Given the description of an element on the screen output the (x, y) to click on. 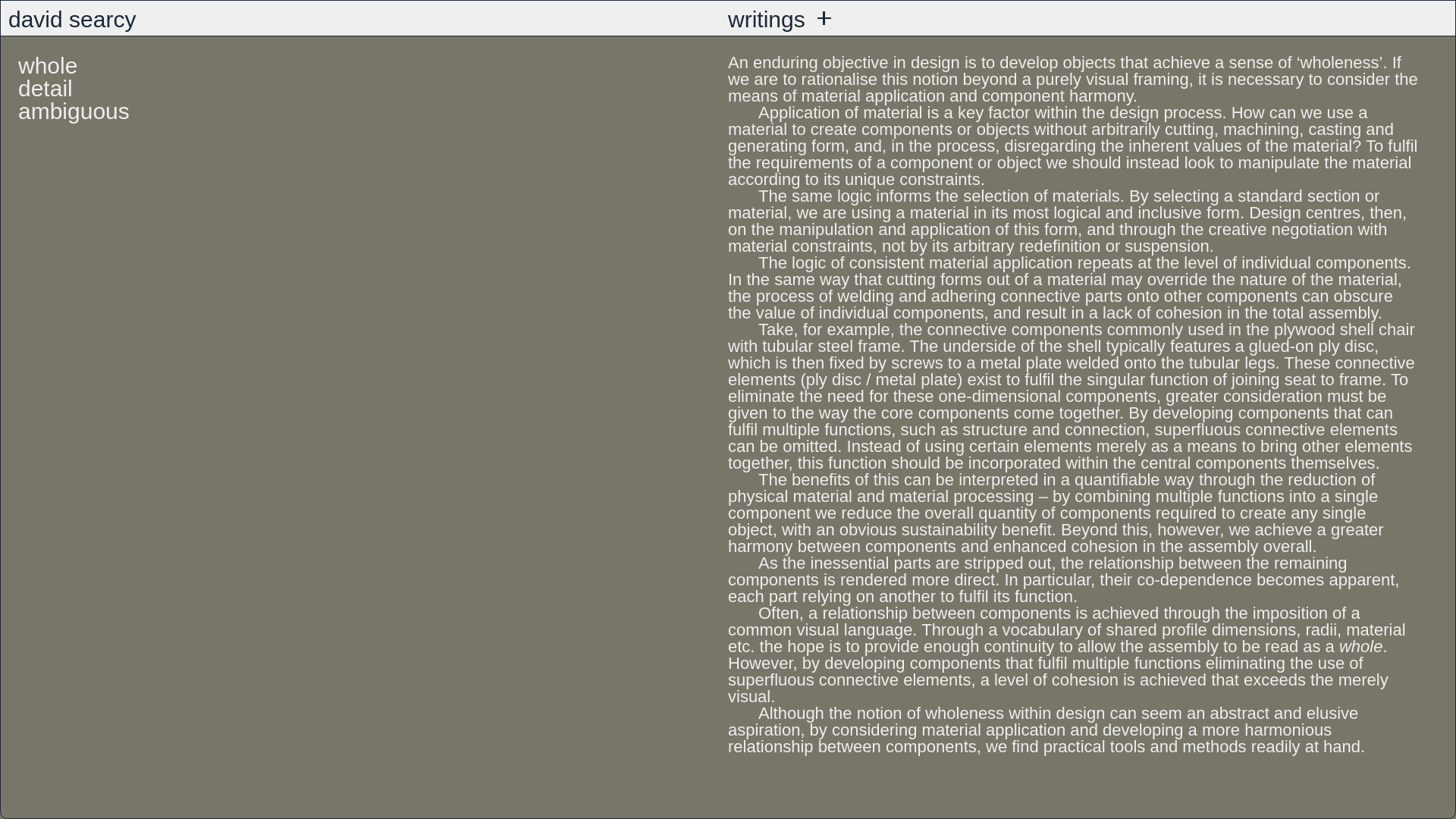
detail (44, 88)
writings (772, 18)
whole (47, 65)
ambiguous (73, 110)
david searcy (71, 18)
